Given the description of an element on the screen output the (x, y) to click on. 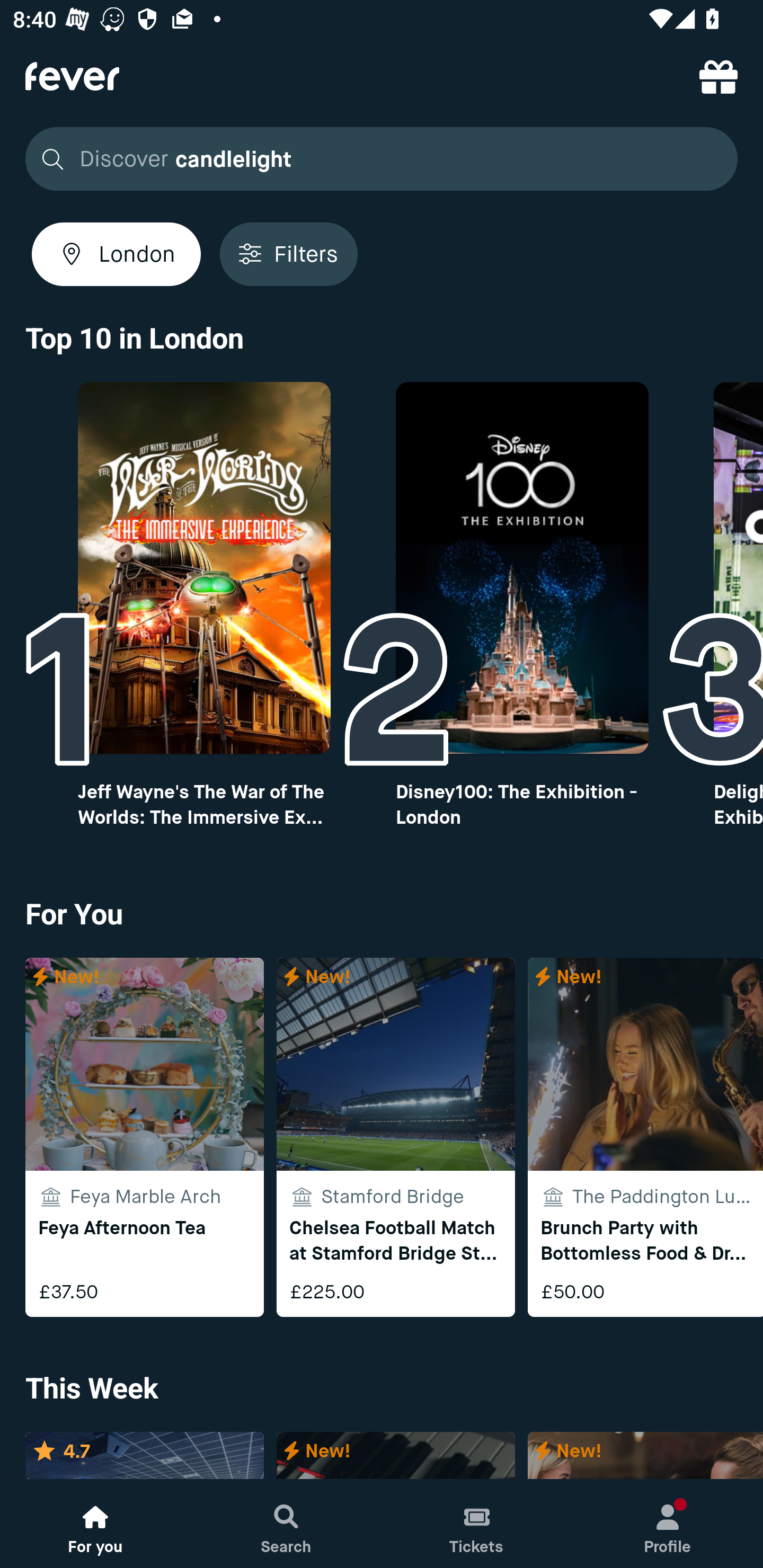
referral (718, 75)
Discover candlelight (381, 158)
Discover candlelight (376, 158)
London (116, 253)
Filters (288, 253)
Top10 image (203, 568)
Top10 image (521, 568)
Search (285, 1523)
Tickets (476, 1523)
Profile, New notification Profile (667, 1523)
